Given the description of an element on the screen output the (x, y) to click on. 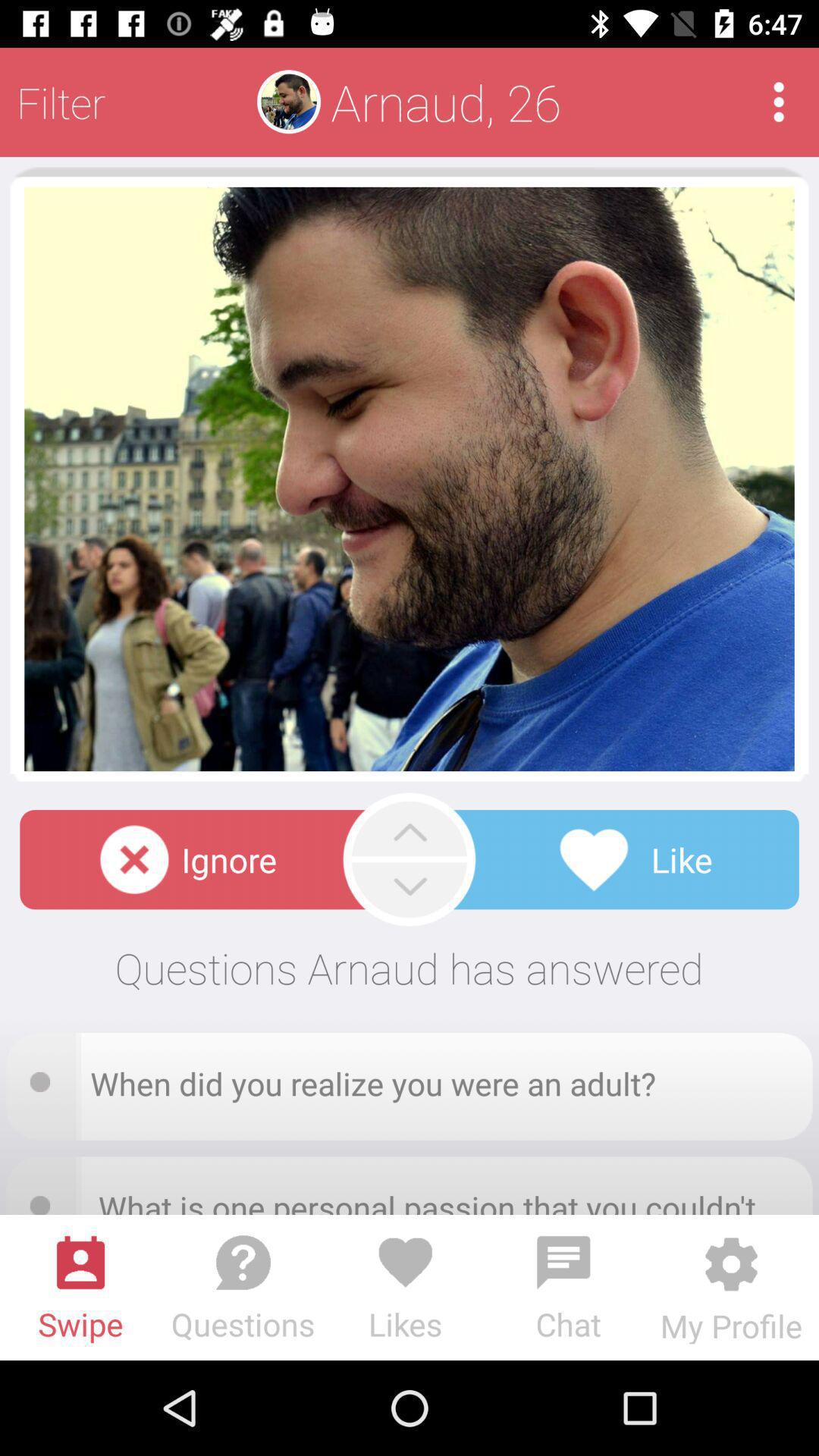
press icon at the top right corner (778, 101)
